Given the description of an element on the screen output the (x, y) to click on. 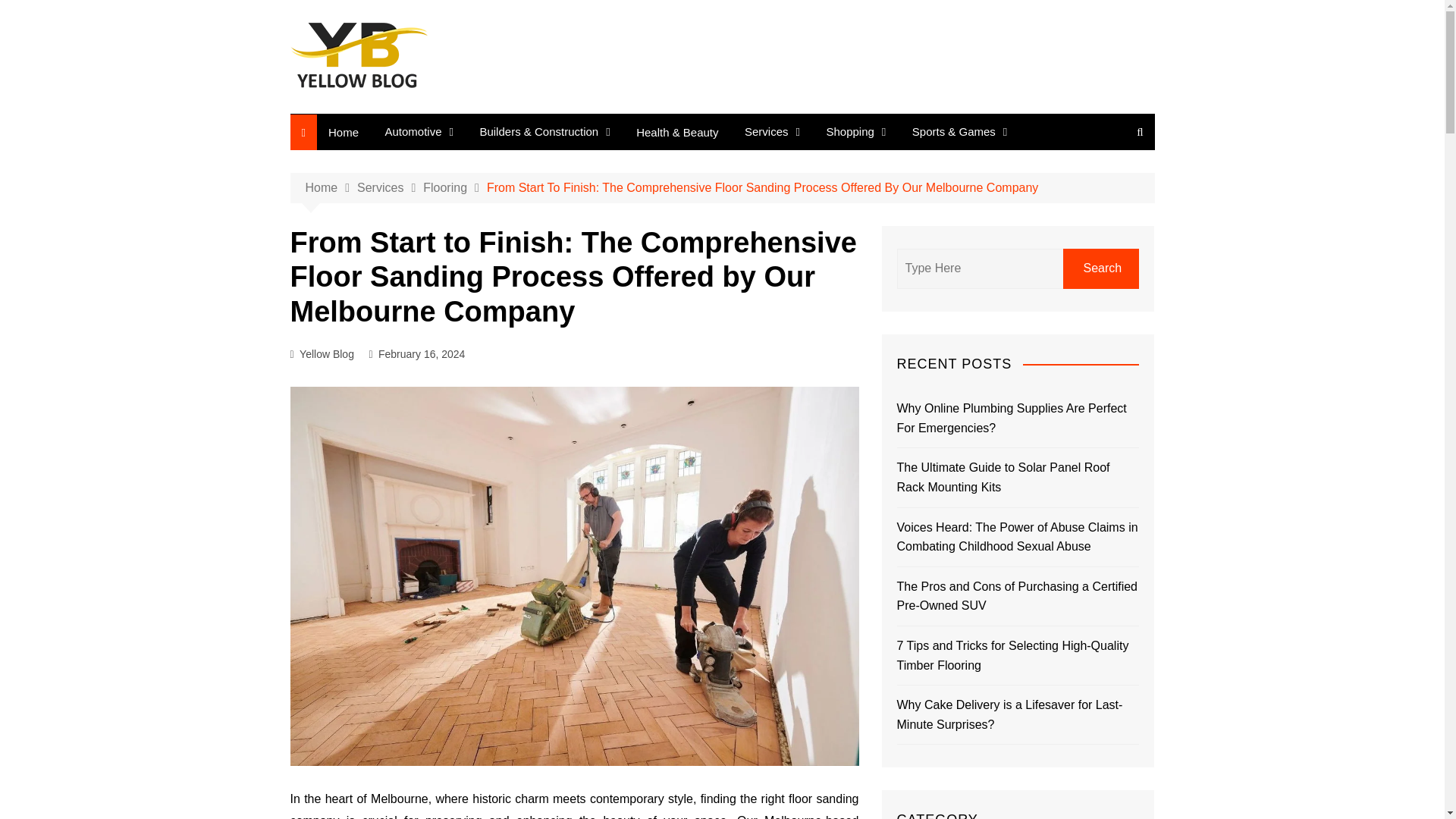
Services (771, 131)
Search (1100, 268)
Home (330, 188)
Services (389, 188)
Flooring (454, 188)
Shopping (854, 131)
February 16, 2024 (421, 353)
Home (343, 131)
Automotive (418, 131)
Yellow Blog (326, 353)
